Given the description of an element on the screen output the (x, y) to click on. 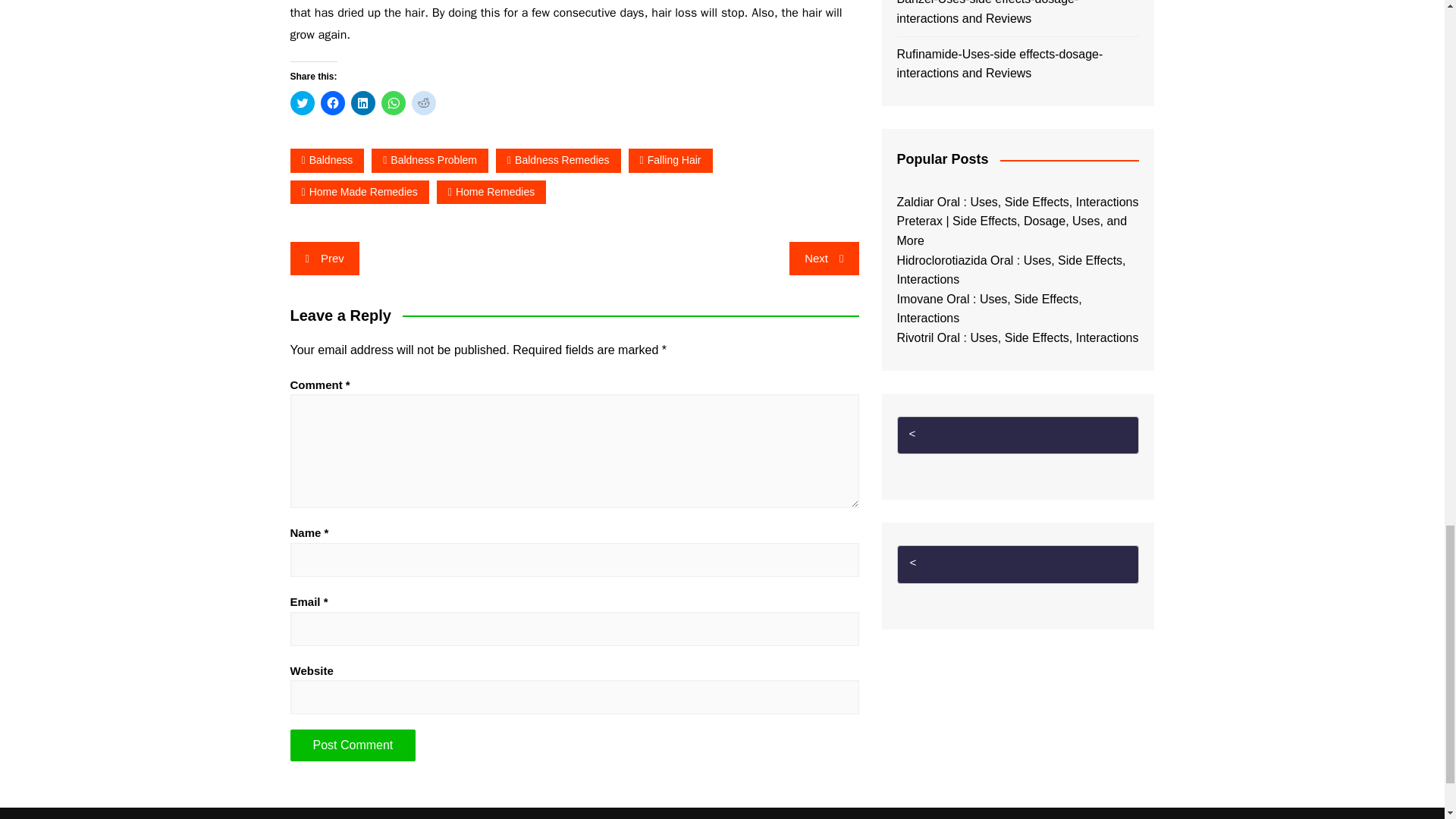
Click to share on Twitter (301, 102)
Click to share on Reddit (422, 102)
Click to share on LinkedIn (362, 102)
Post Comment (351, 745)
Click to share on Facebook (331, 102)
Click to share on WhatsApp (392, 102)
